Given the description of an element on the screen output the (x, y) to click on. 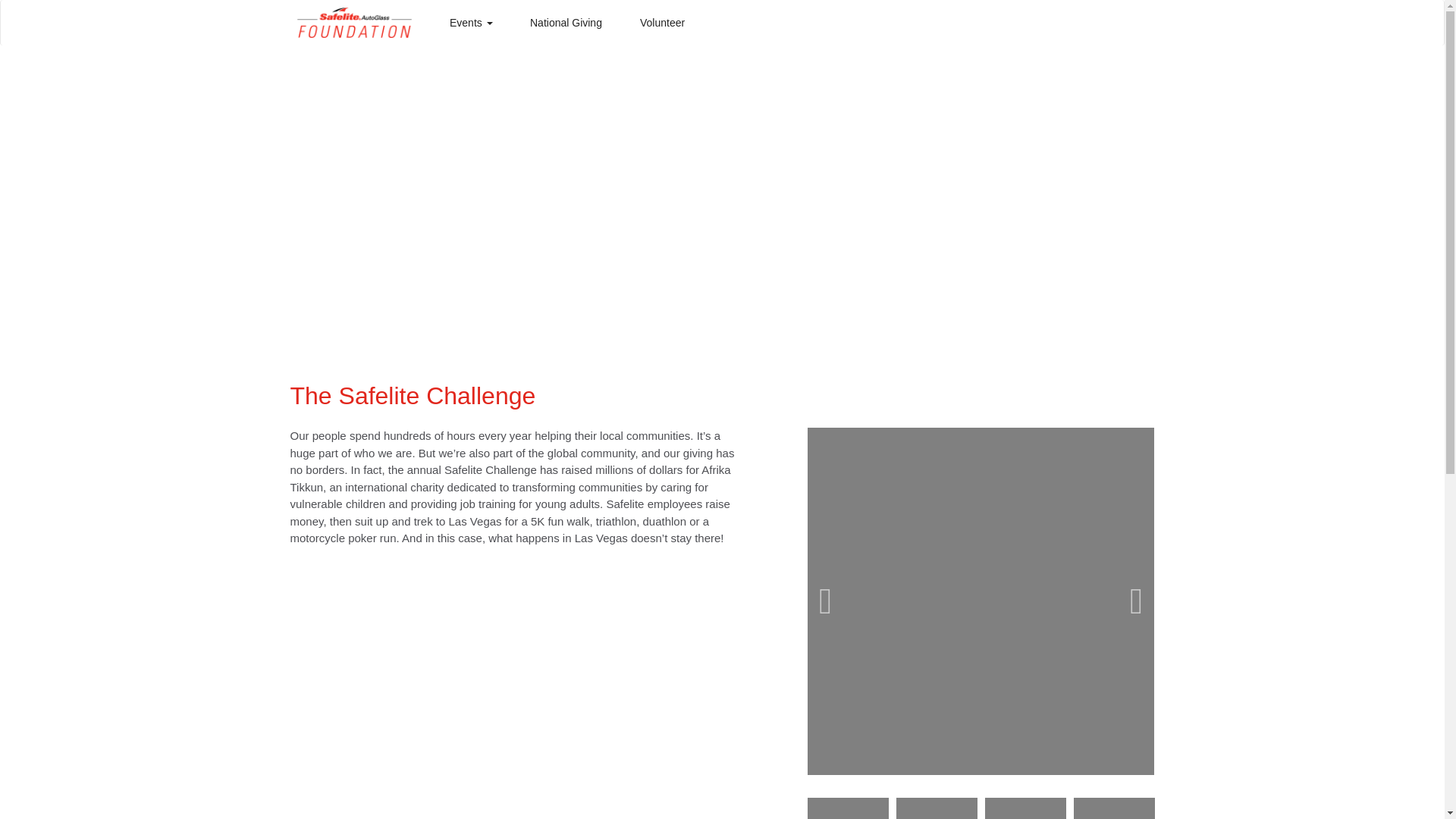
National Giving (565, 22)
Events (470, 22)
Volunteer (661, 22)
Volunteer (661, 22)
Events (470, 22)
National Giving (565, 22)
